Given the description of an element on the screen output the (x, y) to click on. 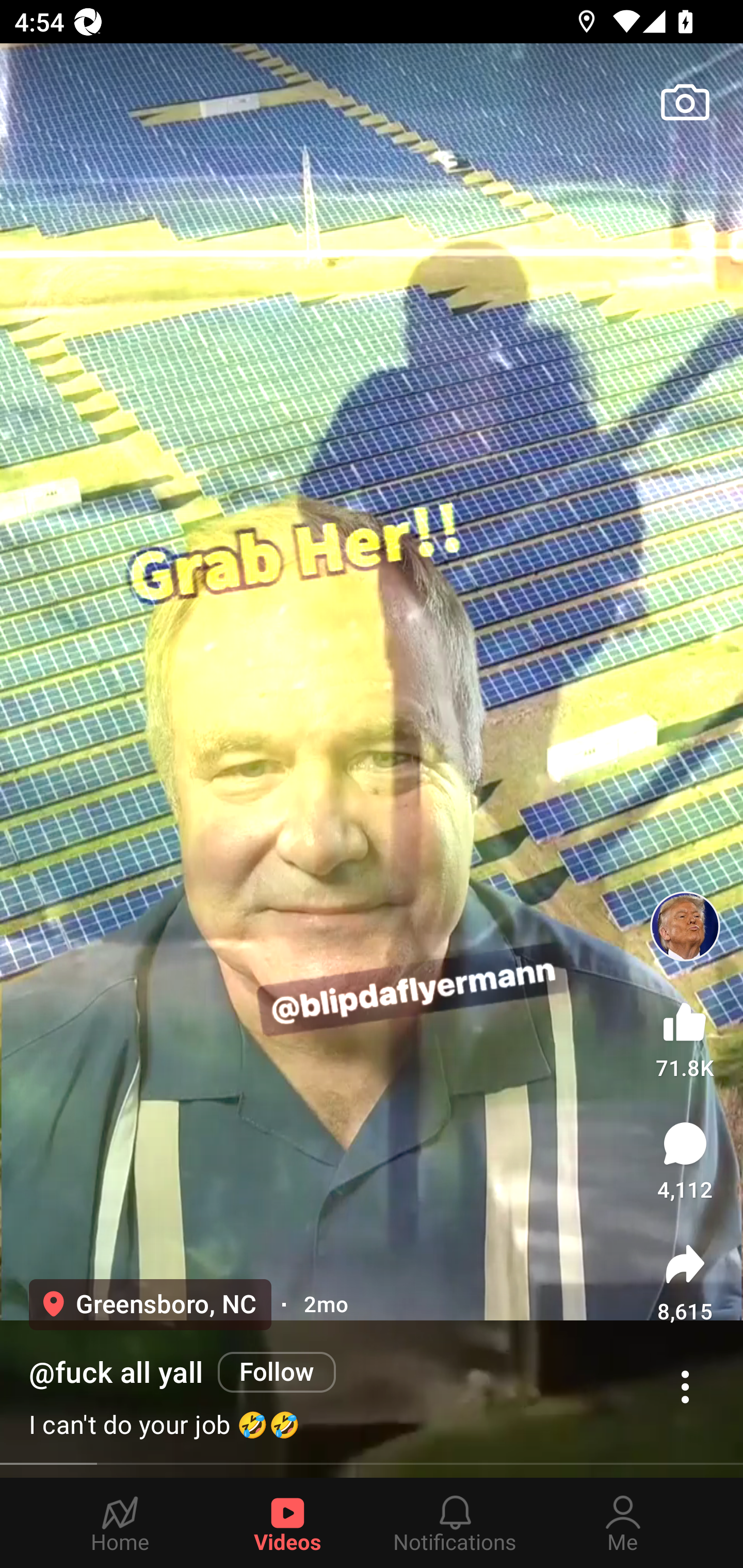
71.8K (684, 1035)
4,112 (685, 1160)
8,615 (685, 1282)
Greensboro, NC (149, 1304)
Follow (276, 1371)
@fuck all yall (115, 1373)
Home (119, 1522)
Notifications (455, 1522)
Me (622, 1522)
